Given the description of an element on the screen output the (x, y) to click on. 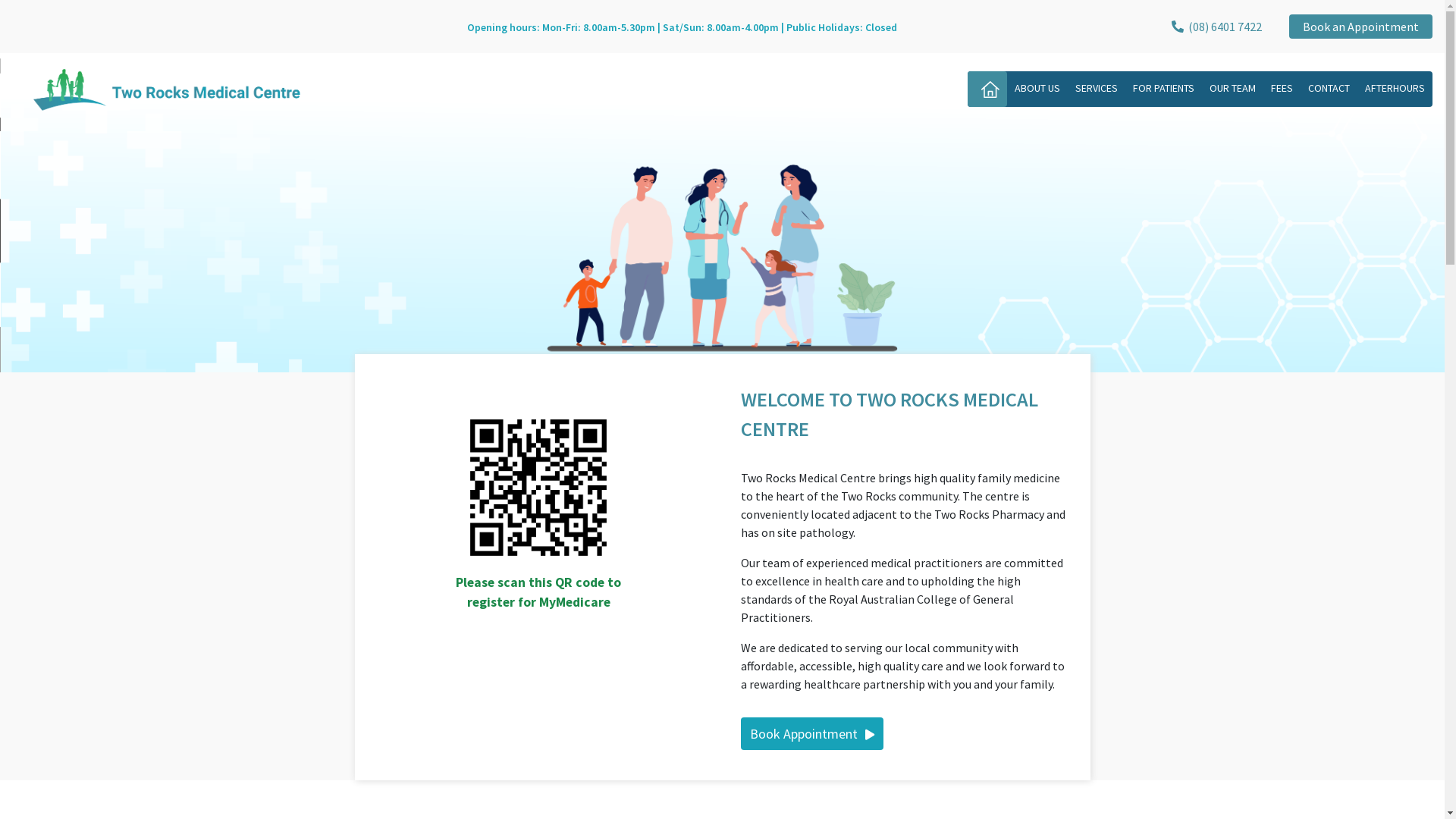
ABOUT US Element type: text (1037, 88)
Book an Appointment Element type: text (1360, 26)
Book an Appointment Element type: text (1360, 26)
FOR PATIENTS Element type: text (1163, 88)
SERVICES Element type: text (1096, 88)
CONTACT Element type: text (1328, 88)
OUR TEAM Element type: text (1232, 88)
FEES Element type: text (1281, 88)
Book Appointment Element type: text (811, 733)
AFTERHOURS Element type: text (1394, 88)
   (08) 6401 7422 Element type: text (1215, 26)
